Given the description of an element on the screen output the (x, y) to click on. 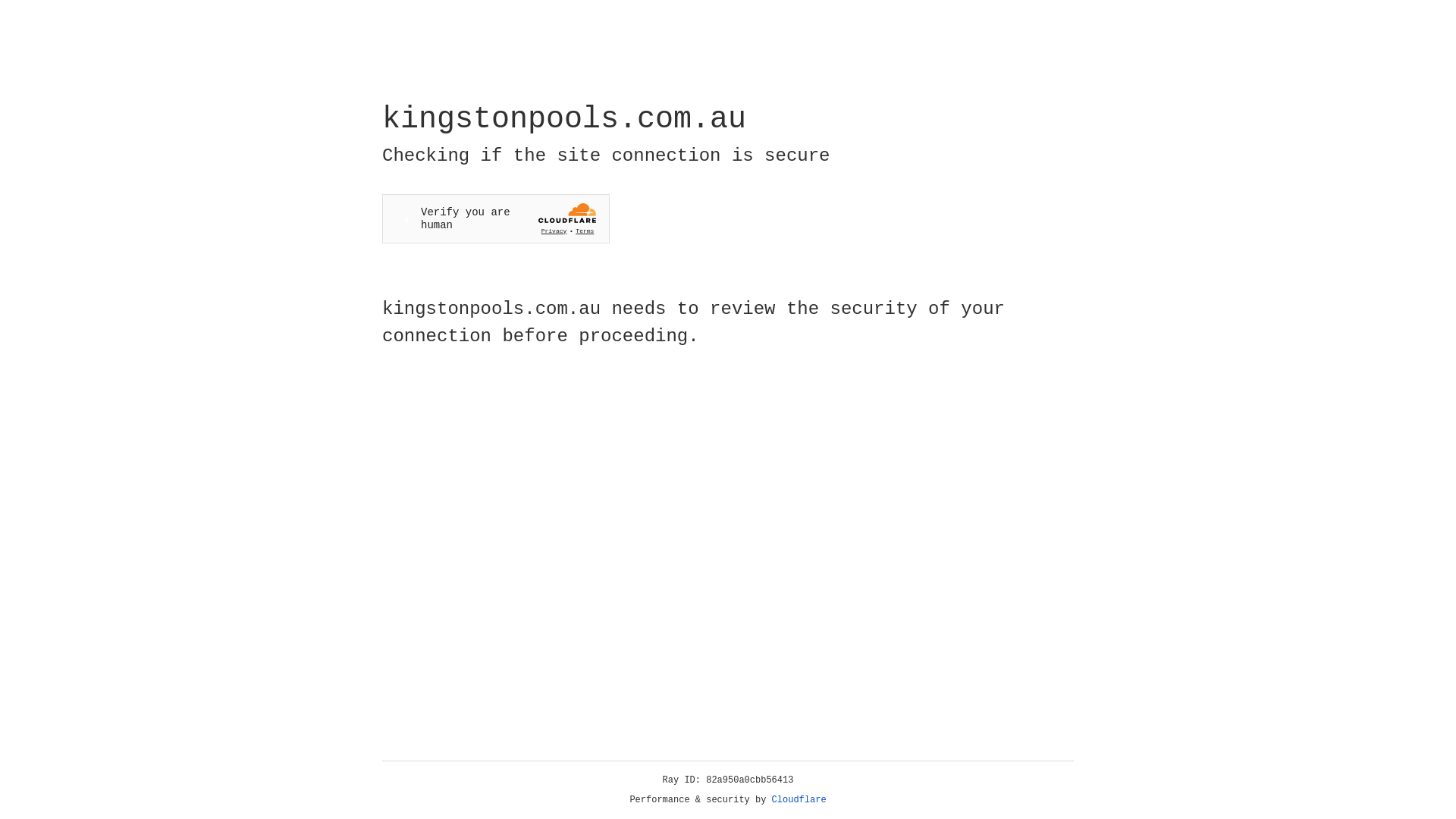
Cloudflare Element type: text (798, 799)
Widget containing a Cloudflare security challenge Element type: hover (495, 218)
